Given the description of an element on the screen output the (x, y) to click on. 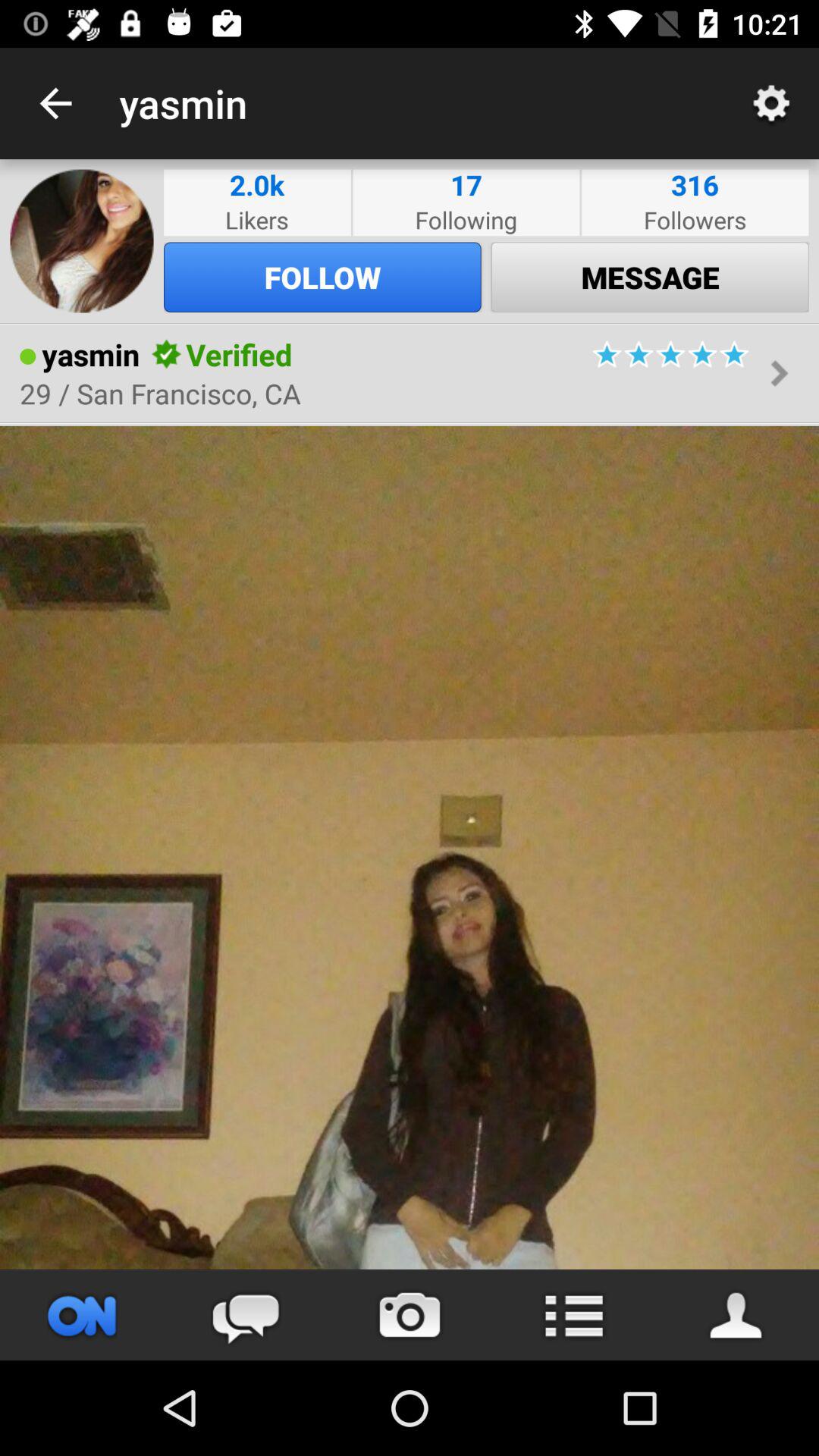
for menu (573, 1315)
